Given the description of an element on the screen output the (x, y) to click on. 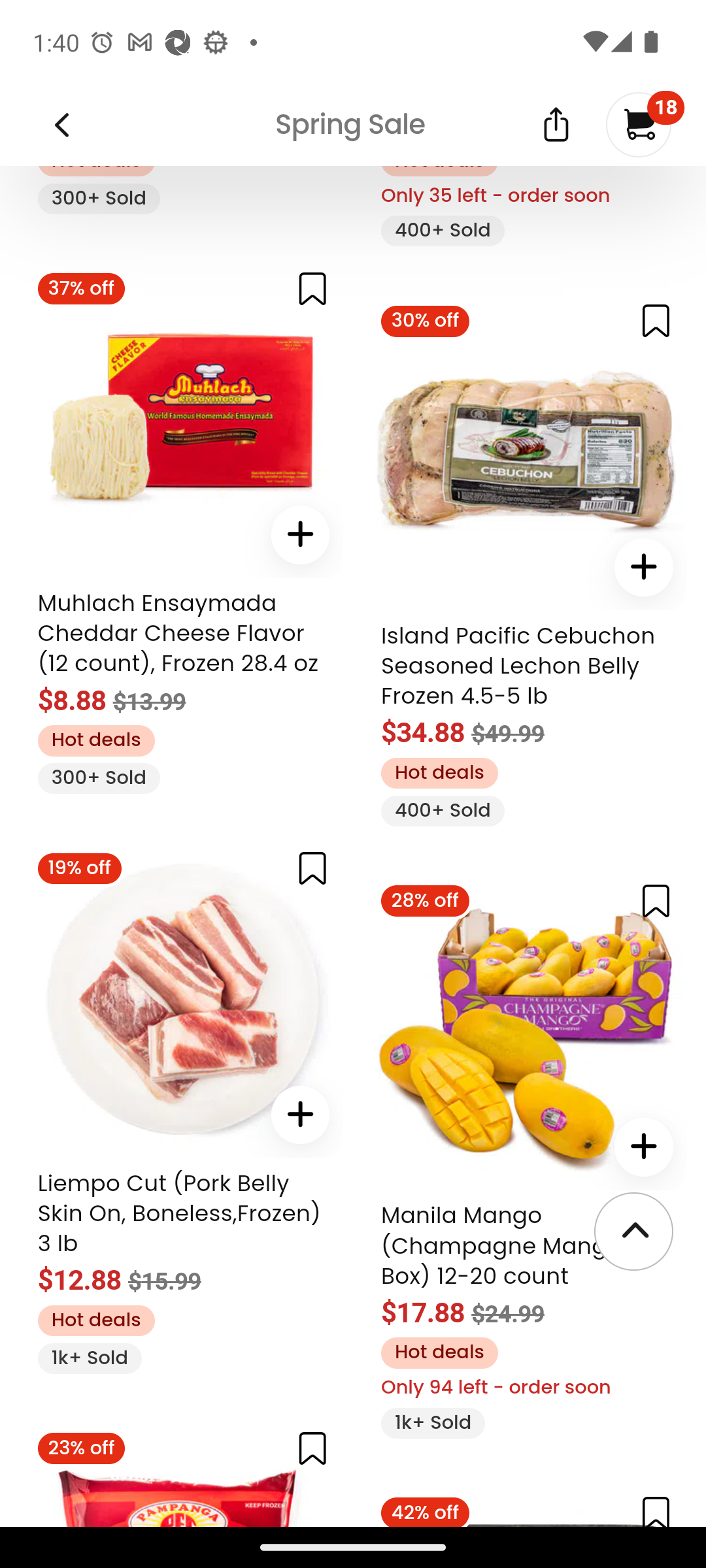
Weee! - Groceries Delivered (54, 123)
18 My cart (638, 124)
 (555, 123)
 (311, 288)
 (656, 320)
 (300, 534)
 (643, 566)
Hot deals (95, 740)
Hot deals (439, 772)
 (311, 868)
 (656, 900)
 (300, 1114)
 (643, 1146)
Hot deals (95, 1319)
Hot deals (439, 1351)
 (311, 1448)
 (656, 1510)
